Given the description of an element on the screen output the (x, y) to click on. 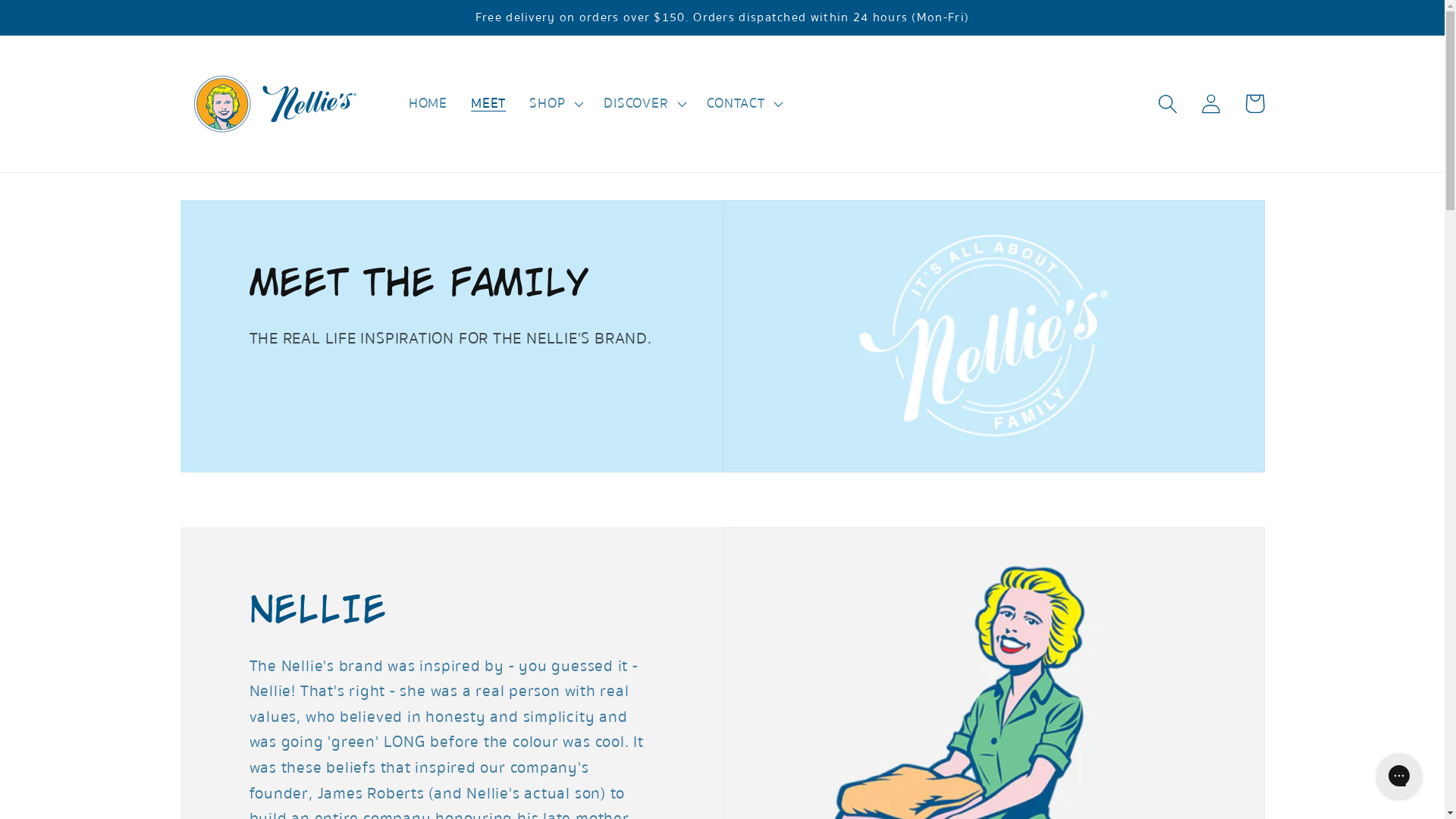
HOME Element type: text (427, 103)
MEET Element type: text (488, 103)
Gorgias live chat messenger Element type: hover (1398, 775)
Cart Element type: text (1254, 103)
Log in Element type: text (1211, 103)
